Given the description of an element on the screen output the (x, y) to click on. 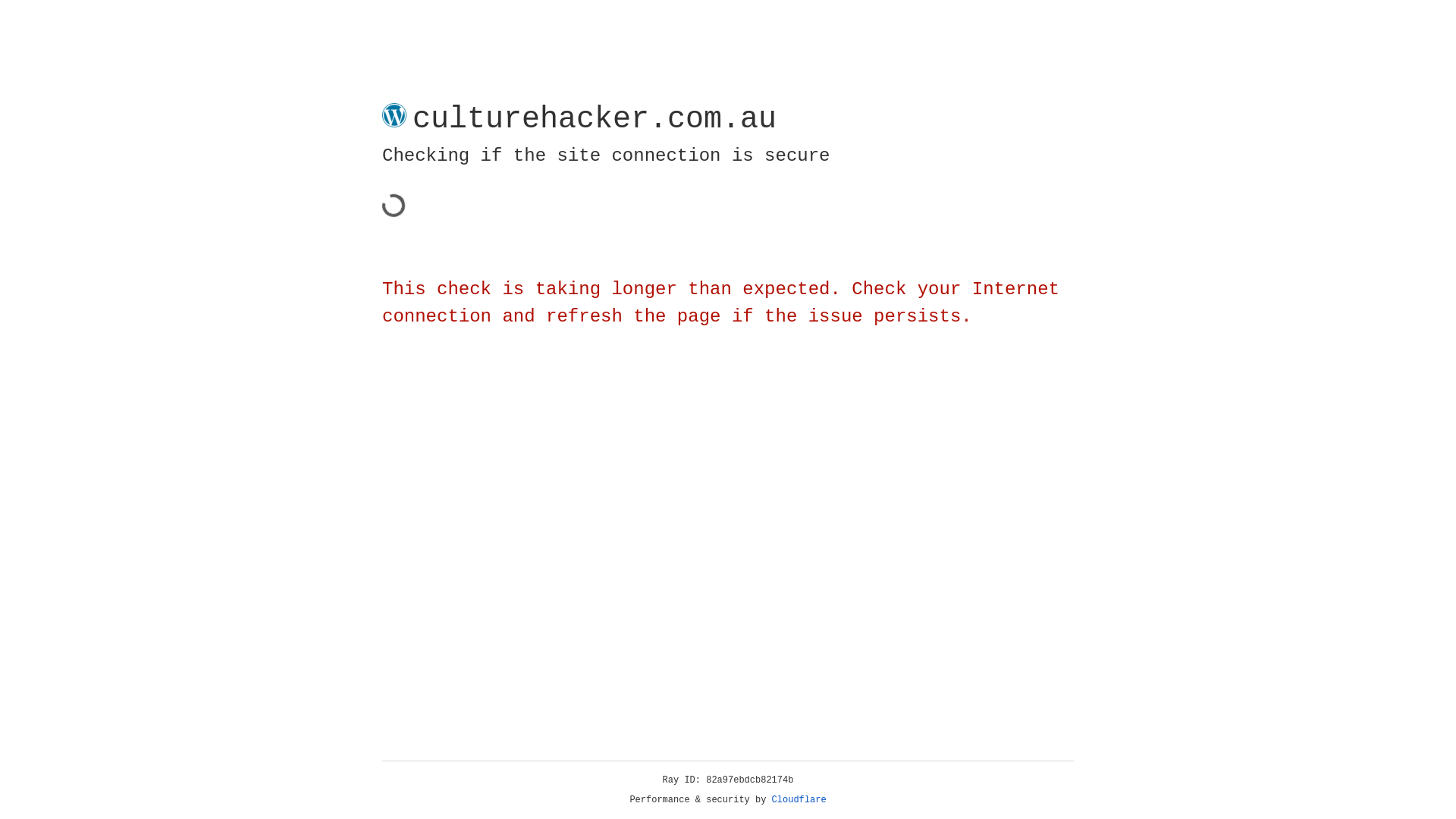
Cloudflare Element type: text (798, 799)
